Given the description of an element on the screen output the (x, y) to click on. 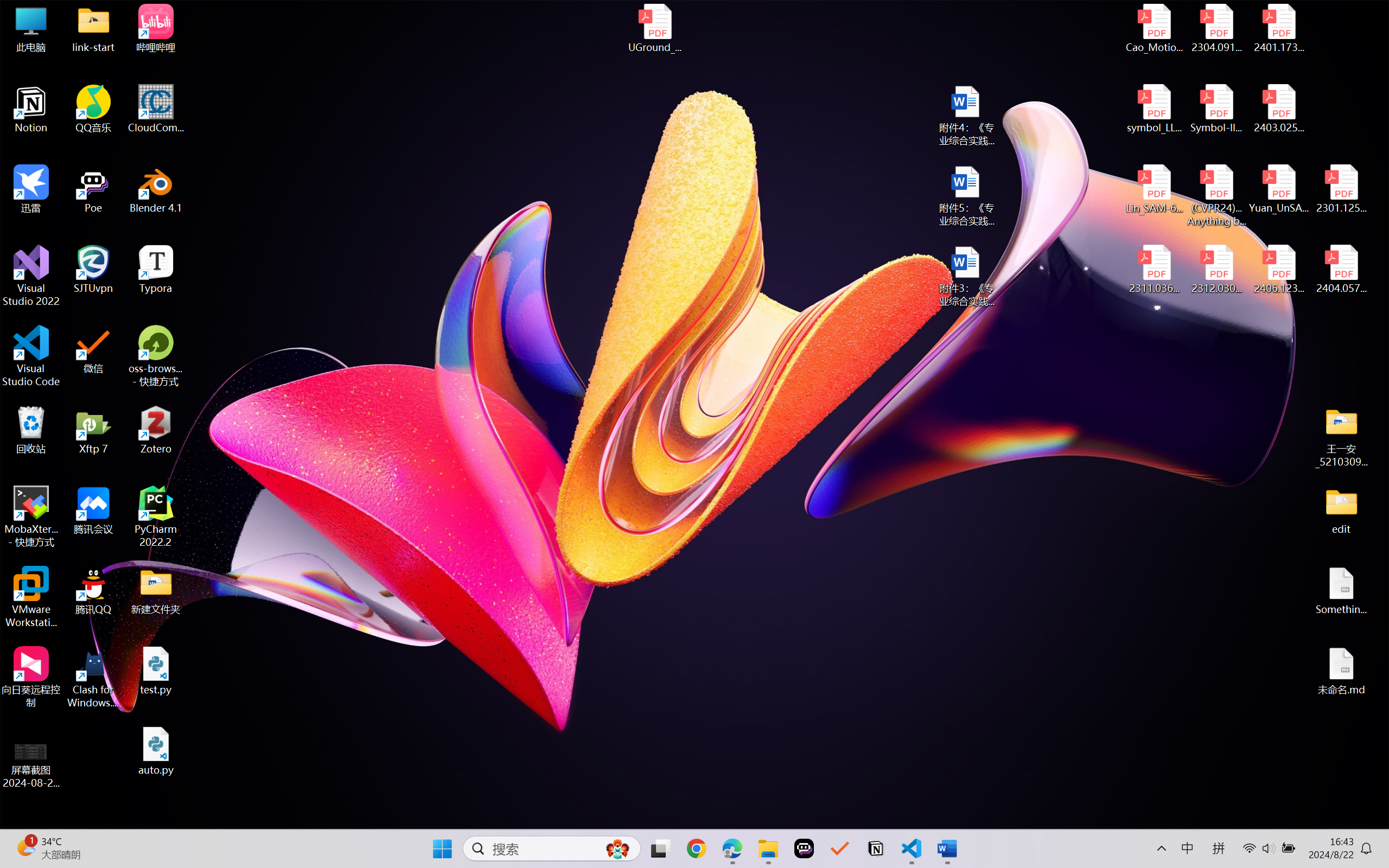
(CVPR24)Matching Anything by Segmenting Anything.pdf (1216, 195)
2403.02502v1.pdf (1278, 109)
test.py (156, 670)
SJTUvpn (93, 269)
symbol_LLM.pdf (1154, 109)
